Given the description of an element on the screen output the (x, y) to click on. 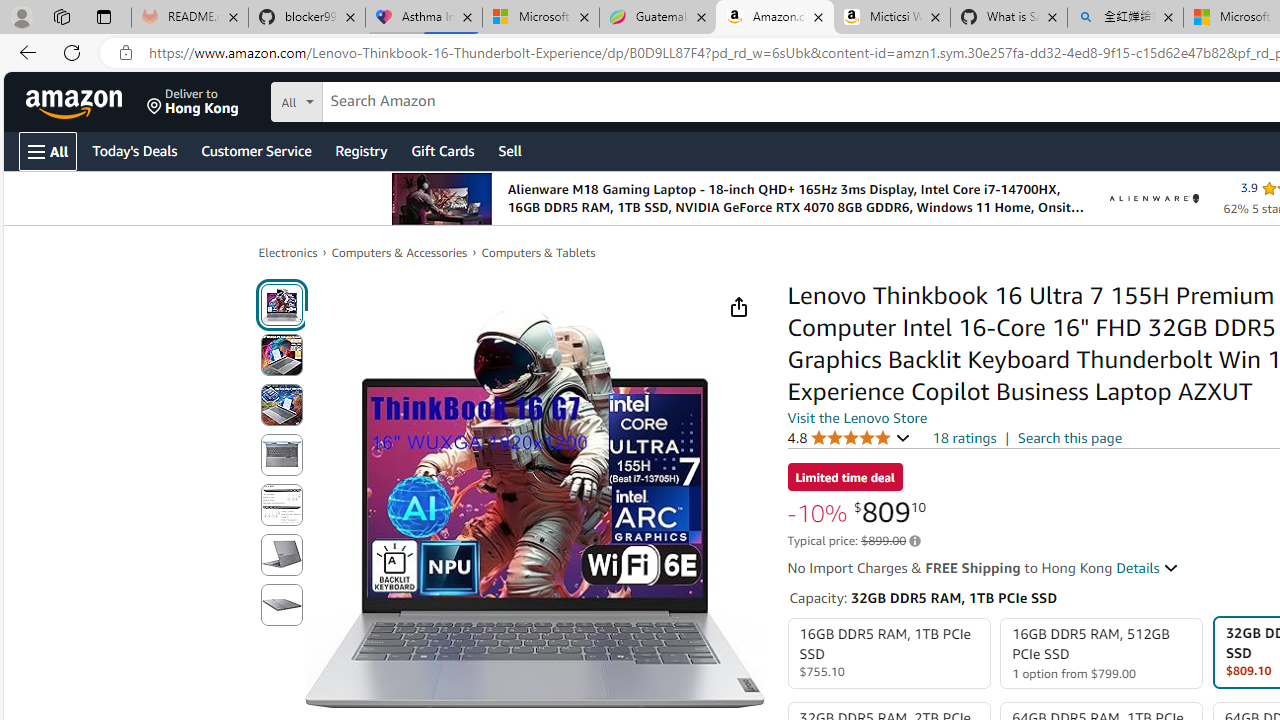
Search this page (1069, 437)
Electronics (287, 251)
Electronics (287, 252)
16GB DDR5 RAM, 512GB PCIe SSD 1 option from $799.00 (1101, 653)
Details  (1148, 568)
Amazon (76, 101)
Today's Deals (134, 150)
